Given the description of an element on the screen output the (x, y) to click on. 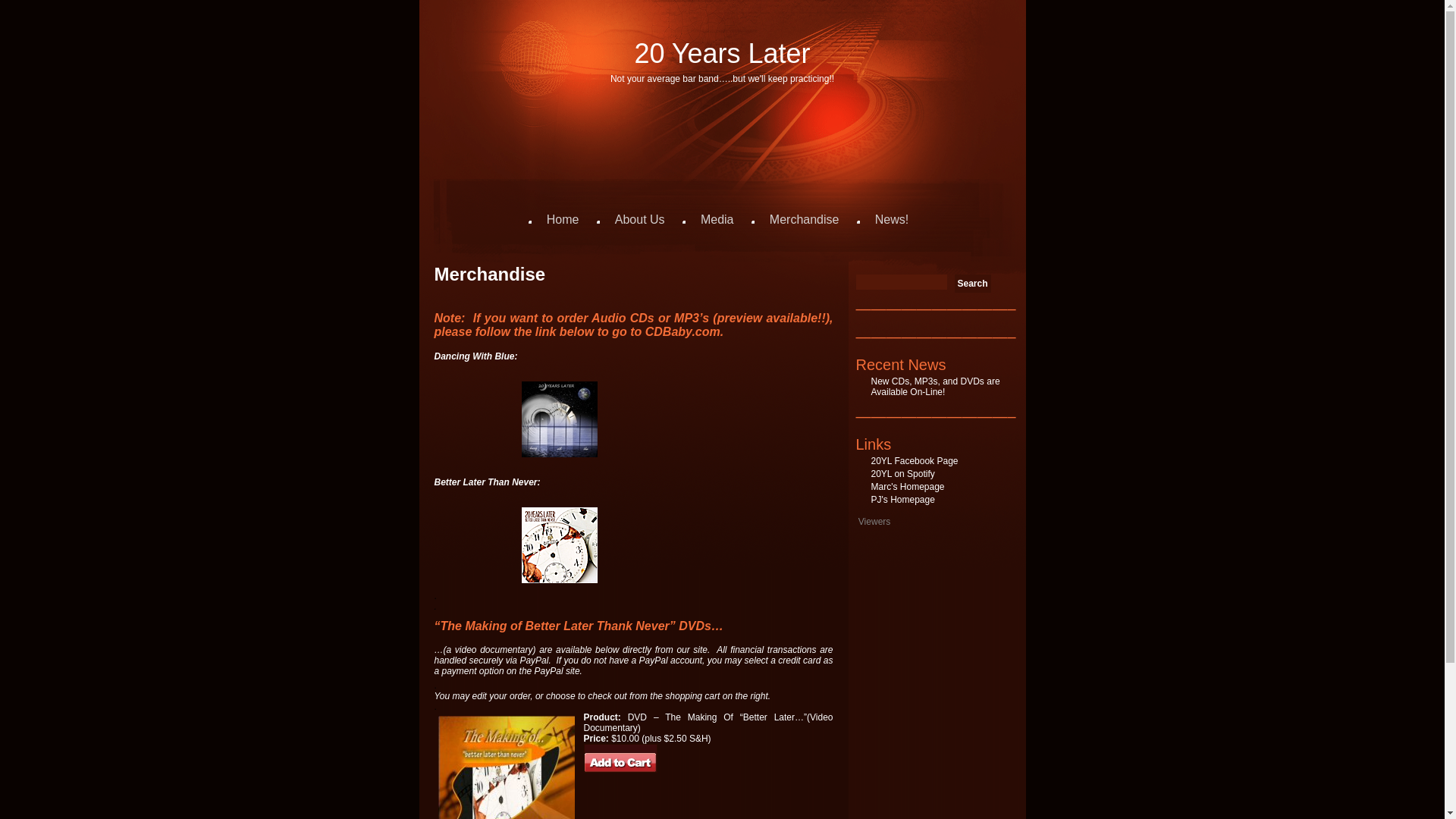
Home Element type: text (562, 219)
Search Element type: text (971, 283)
20 Years Later Element type: text (721, 53)
News! Element type: text (891, 219)
PJ's Homepage Element type: text (902, 499)
About Us Element type: text (640, 219)
20YL on Spotify Element type: text (902, 473)
Media Element type: text (717, 219)
Merchandise Element type: text (804, 219)
New CDs, MP3s, and DVDs are Available On-Line! Element type: text (934, 386)
 Viewers Element type: text (872, 521)
20YL Facebook Page Element type: text (913, 460)
Marc's Homepage Element type: text (907, 486)
